Given the description of an element on the screen output the (x, y) to click on. 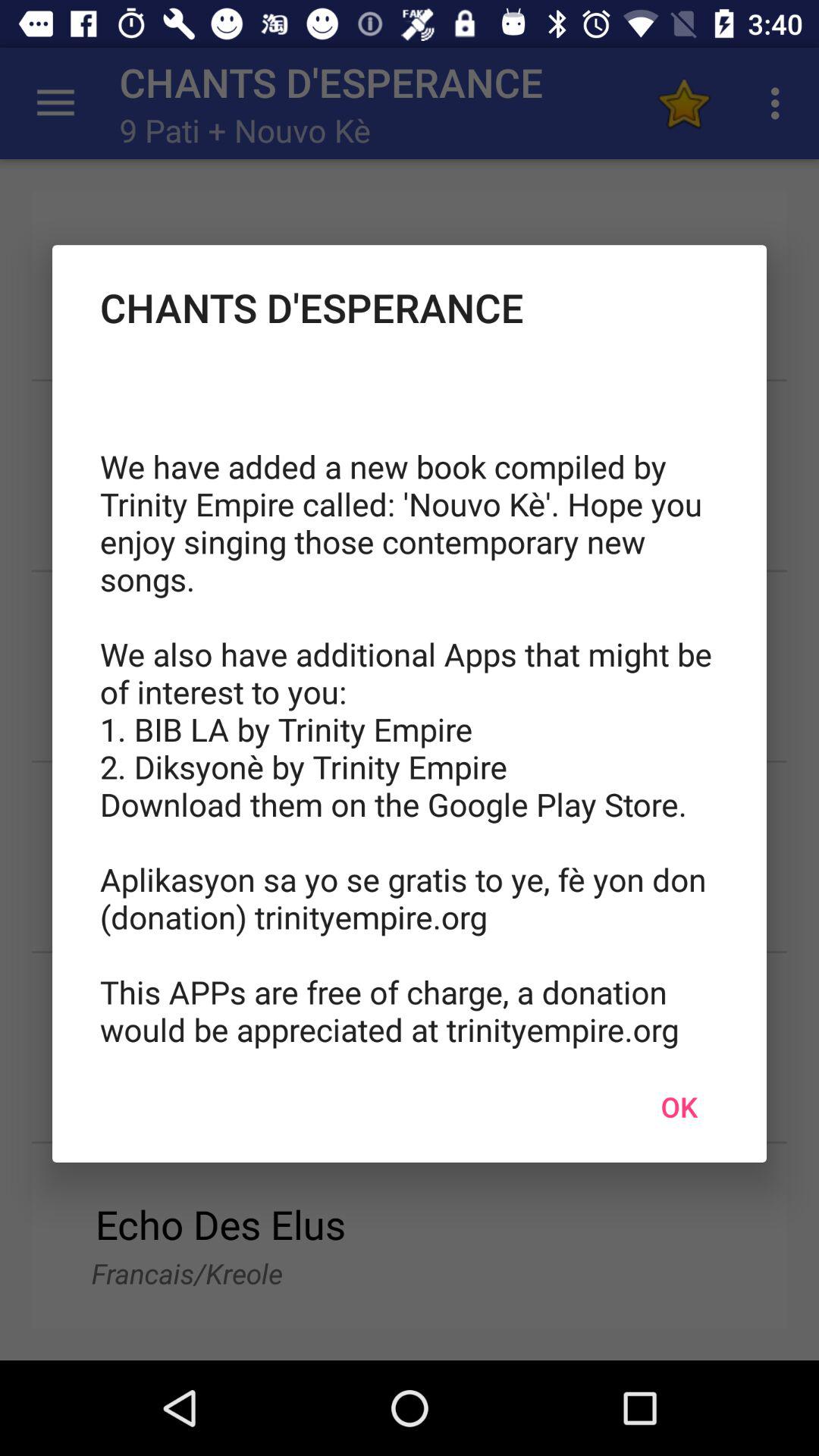
click icon at the bottom right corner (678, 1106)
